Given the description of an element on the screen output the (x, y) to click on. 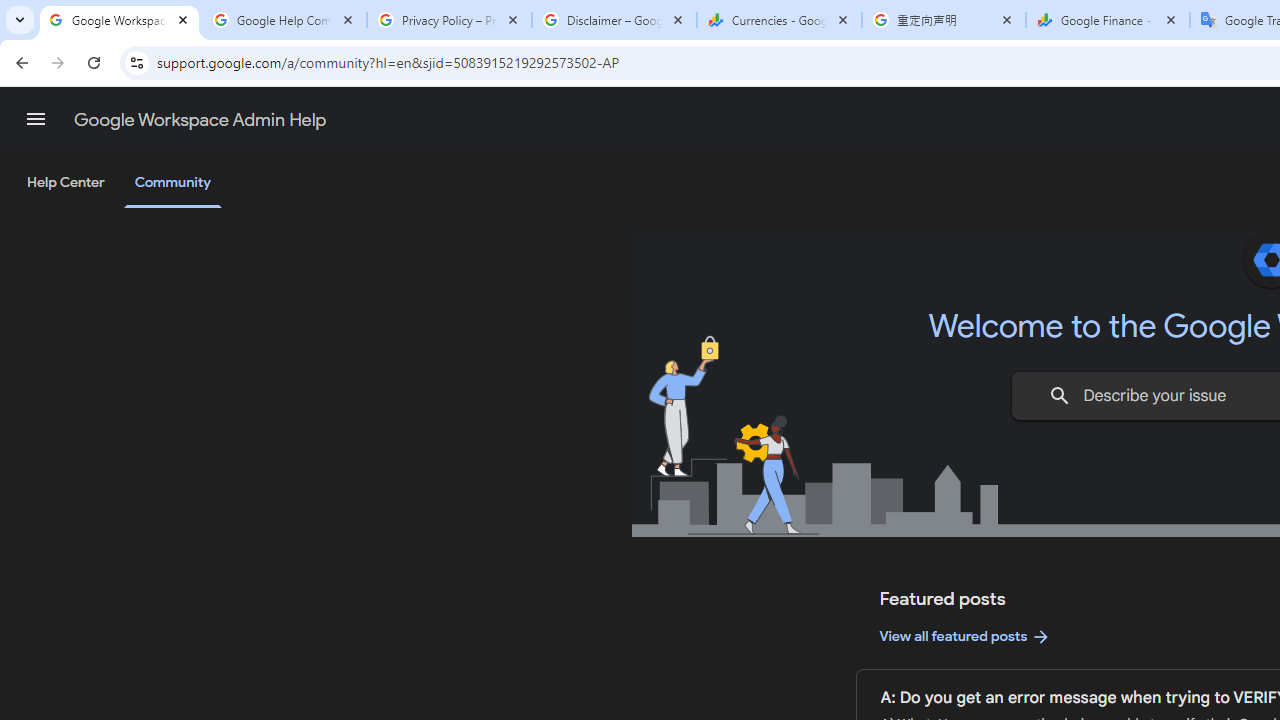
Search tabs (20, 20)
Search (1059, 395)
Currencies - Google Finance (779, 20)
Google Workspace Admin Community (119, 20)
Google Workspace Admin Help (199, 119)
Reload (93, 62)
View site information (136, 62)
Back (19, 62)
Close (1171, 19)
System (10, 11)
View all featured posts (965, 636)
